Given the description of an element on the screen output the (x, y) to click on. 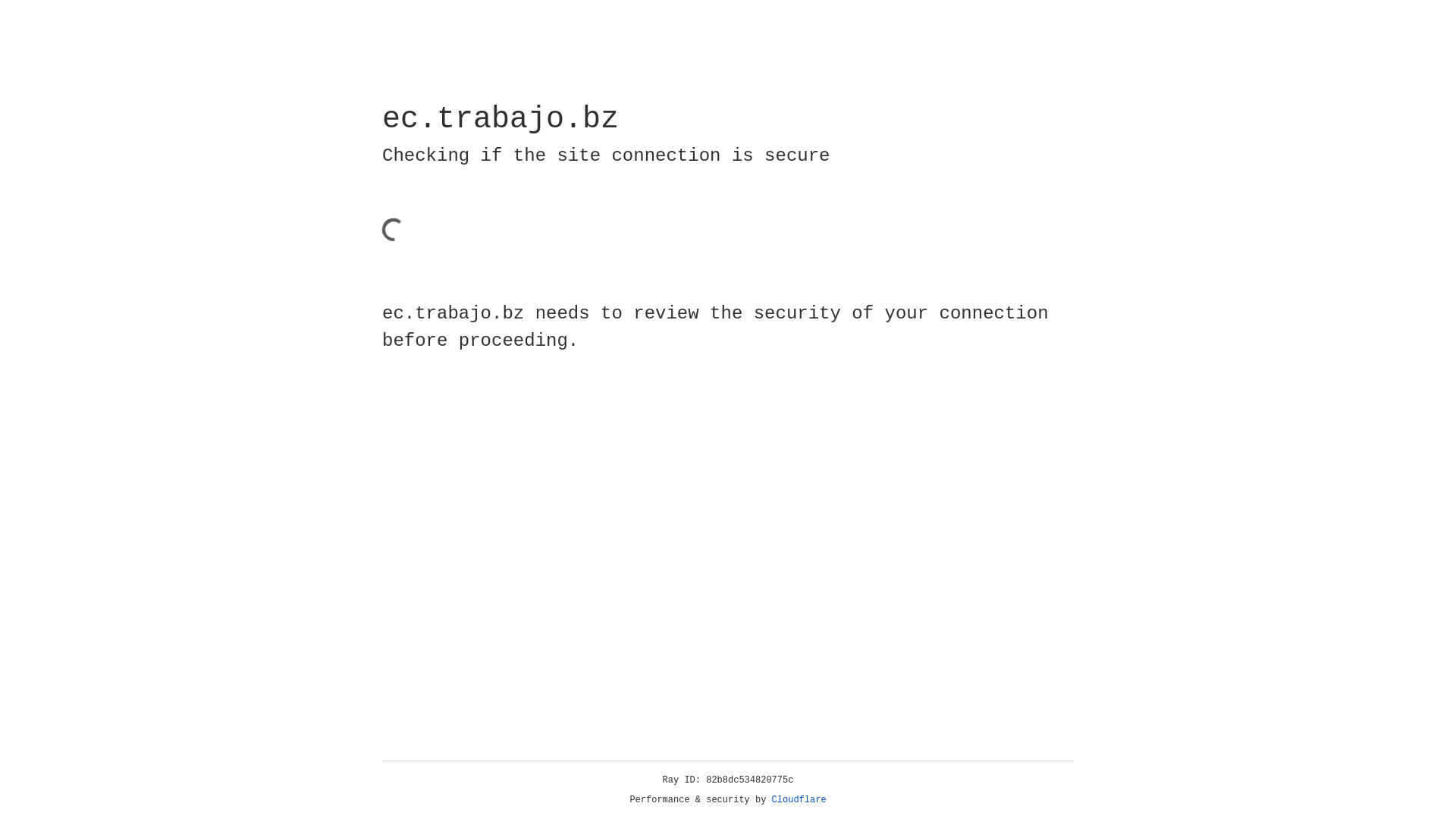
Cloudflare Element type: text (798, 799)
